Given the description of an element on the screen output the (x, y) to click on. 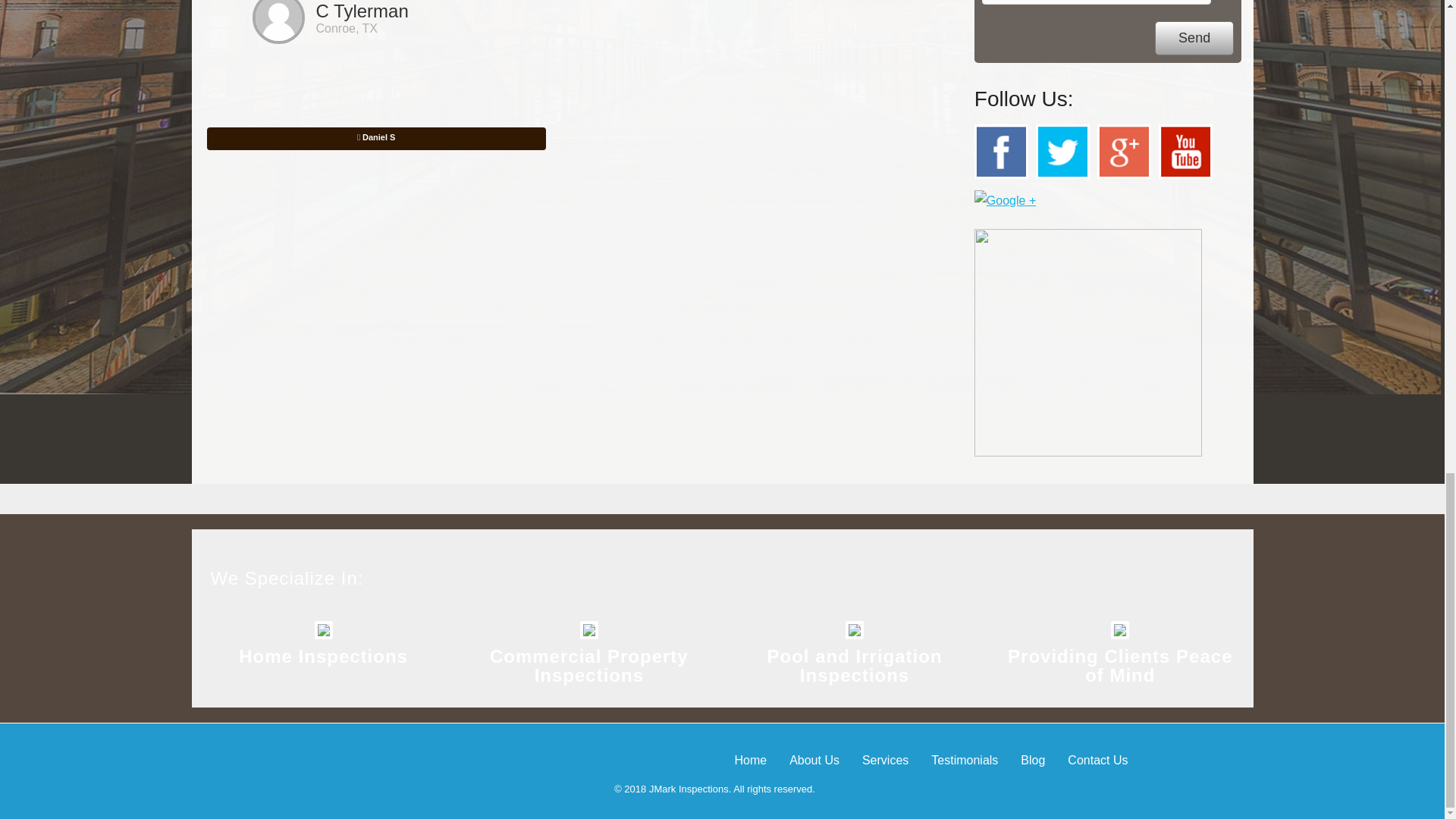
Commercial Property Inspections (588, 665)
Home Inspections (322, 656)
Services (884, 759)
Daniel S (375, 138)
Home (750, 759)
Testimonials (964, 759)
Providing Clients Peace of Mind (1119, 665)
Pool and Irrigation Inspections (854, 665)
About Us (814, 759)
Send (1193, 38)
